Given the description of an element on the screen output the (x, y) to click on. 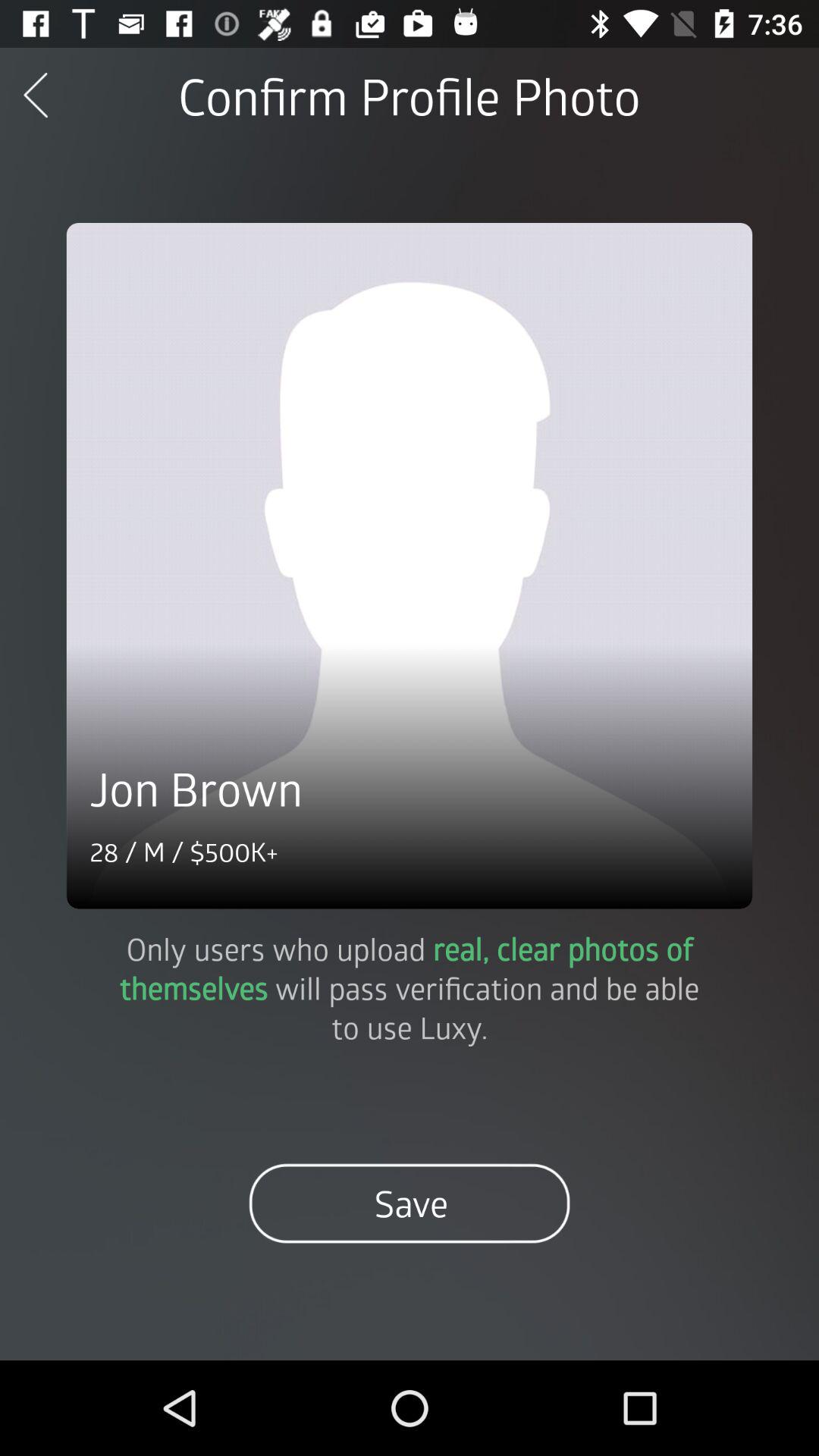
turn off the confirm profile photo icon (409, 95)
